Given the description of an element on the screen output the (x, y) to click on. 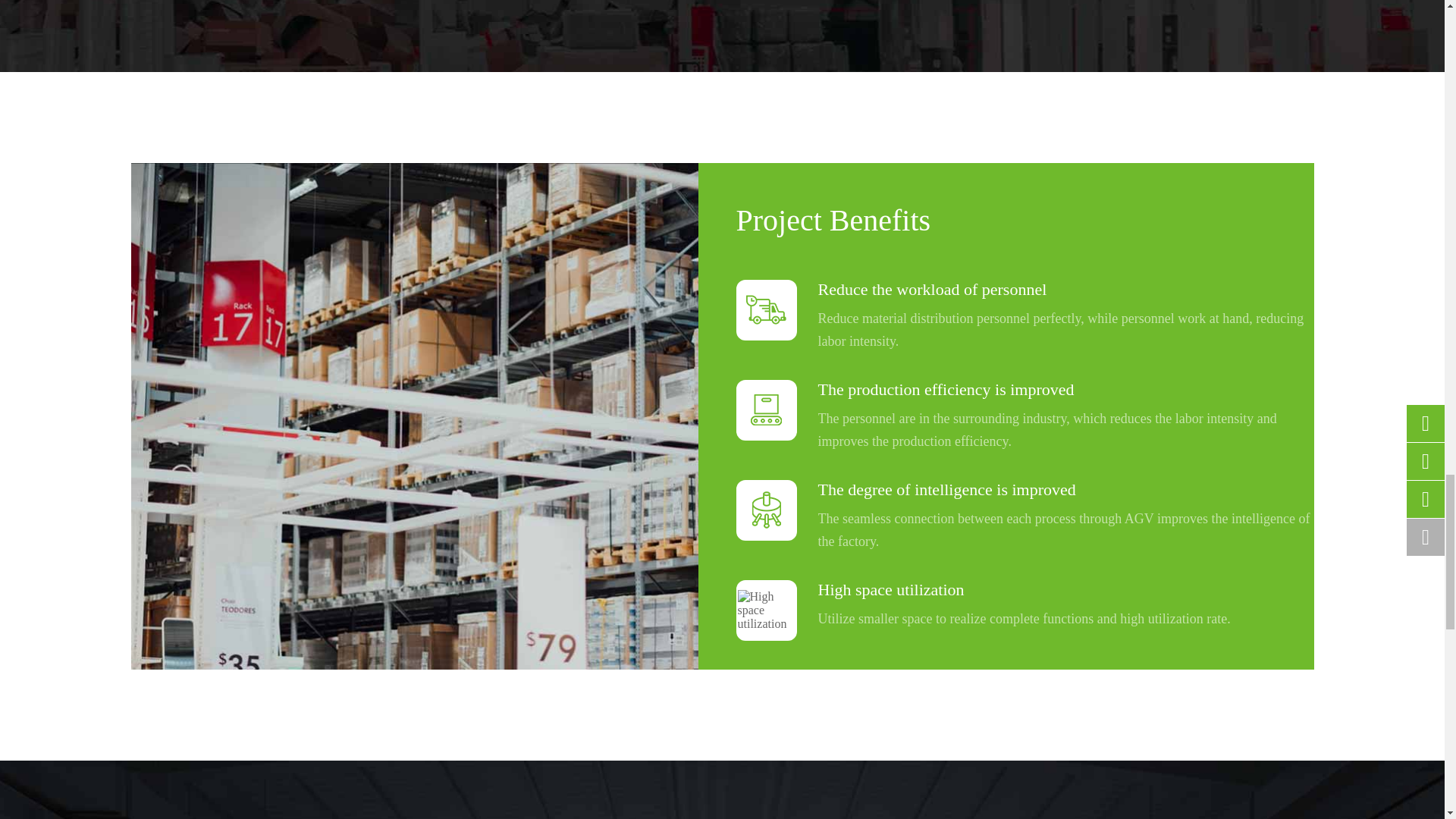
Reduce the workload of personnel (765, 309)
High space utilization (765, 609)
The production efficiency is improved (766, 409)
